Given the description of an element on the screen output the (x, y) to click on. 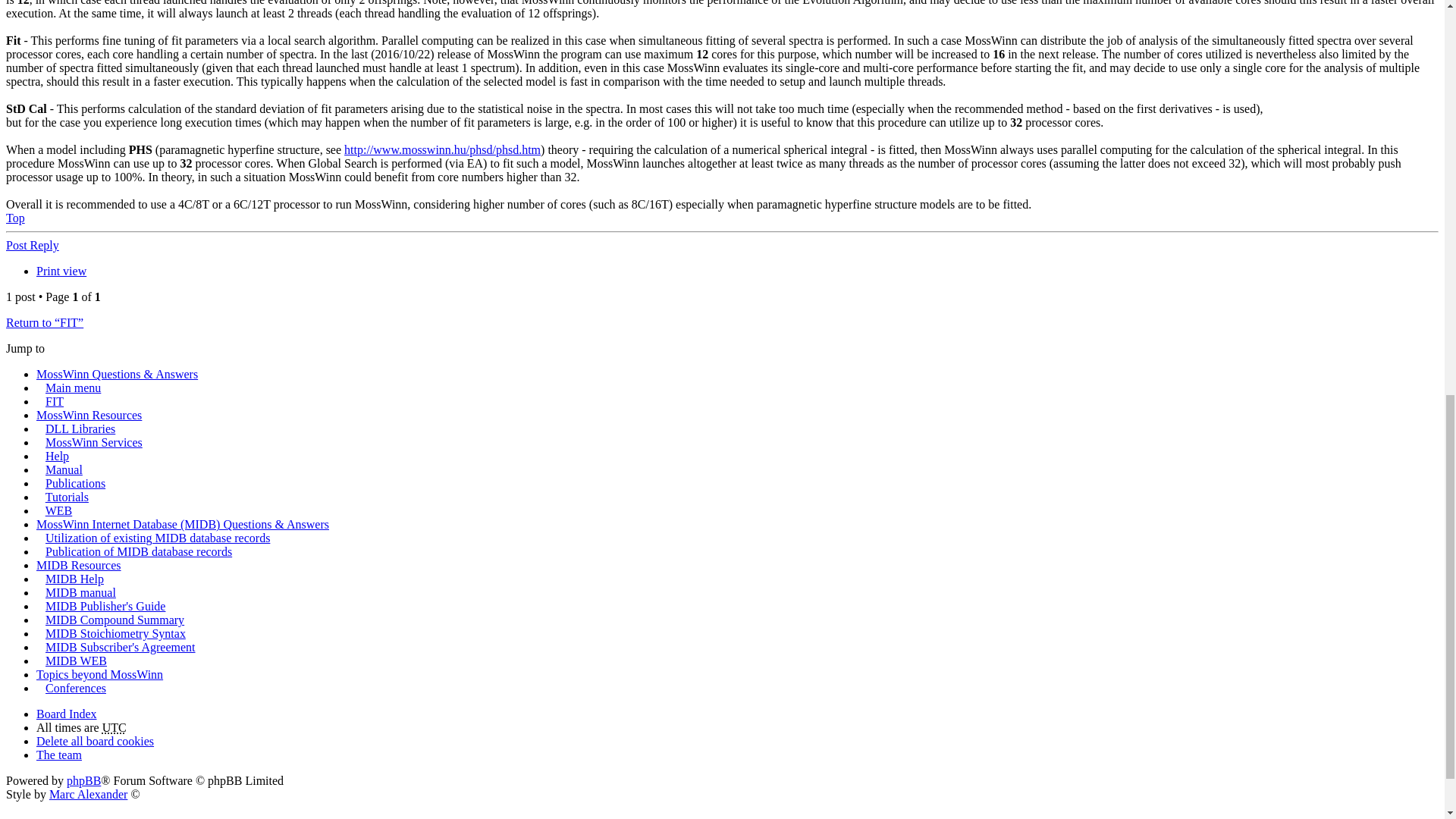
Print view (60, 270)
Top (14, 217)
Main menu (72, 387)
Jump to (25, 348)
Print view (60, 270)
Post Reply (32, 245)
DLL Libraries (80, 428)
Post a reply (32, 245)
Top (14, 217)
MossWinn Resources (88, 414)
FIT (54, 400)
UTC (113, 727)
